Given the description of an element on the screen output the (x, y) to click on. 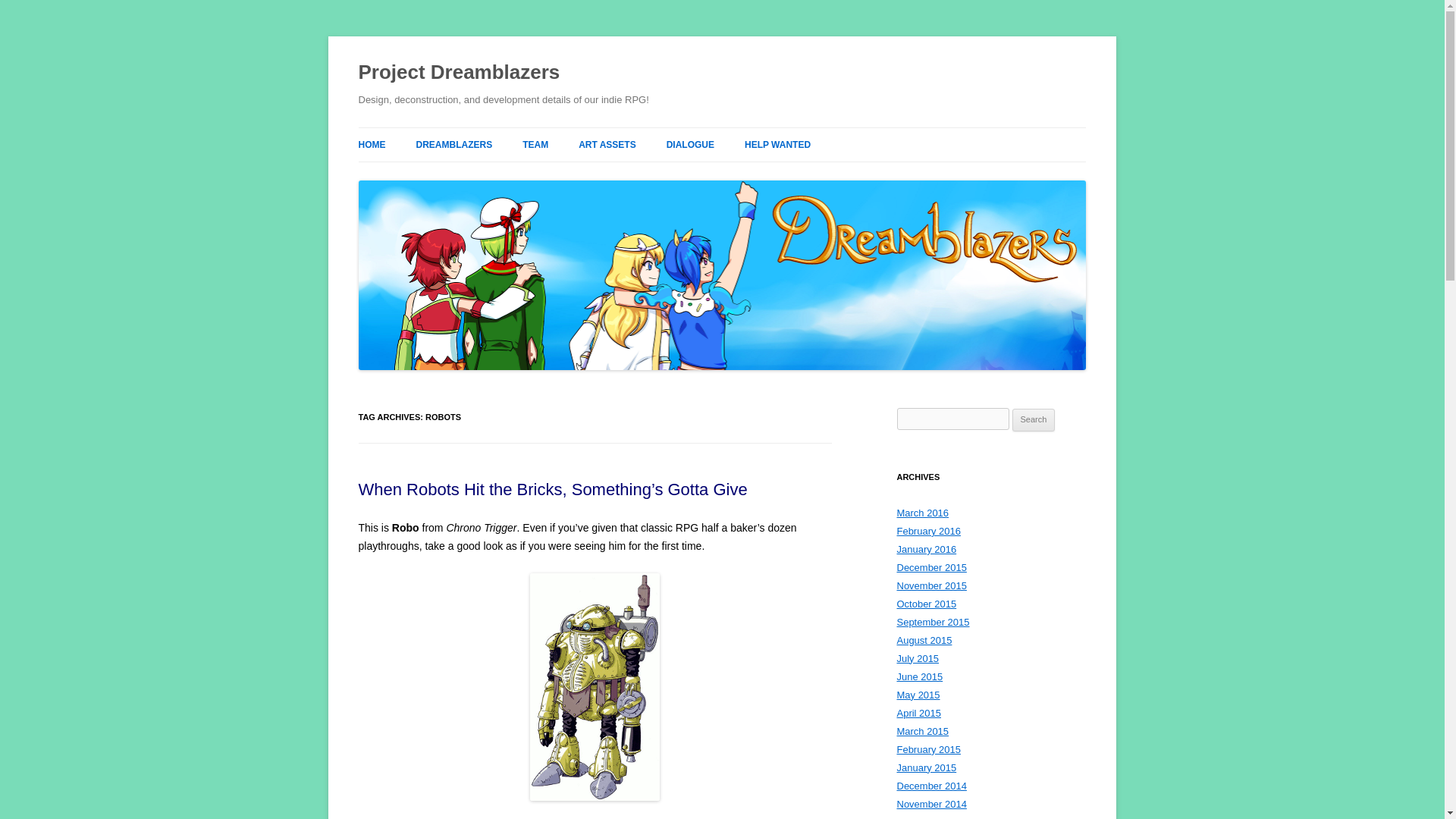
November 2015 (931, 585)
October 2015 (926, 603)
February 2016 (927, 531)
DIALOGUE (690, 144)
May 2015 (917, 695)
February 2015 (927, 749)
January 2016 (926, 549)
Project Dreamblazers (458, 72)
Skip to content (759, 132)
August 2015 (924, 640)
